Given the description of an element on the screen output the (x, y) to click on. 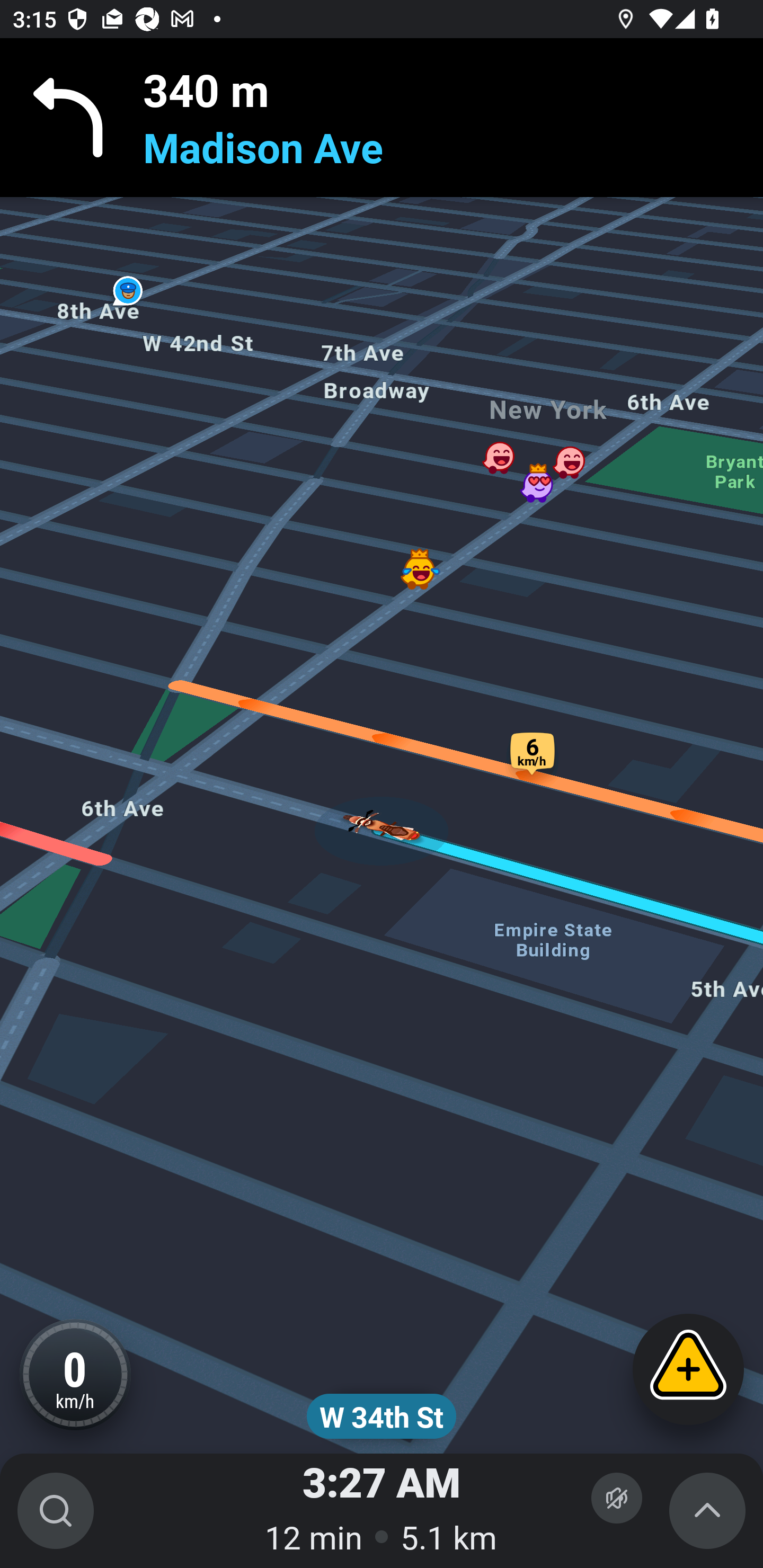
340 m Madison Ave (381, 117)
3:27 AM 12 min 5.1 km (381, 1510)
